Given the description of an element on the screen output the (x, y) to click on. 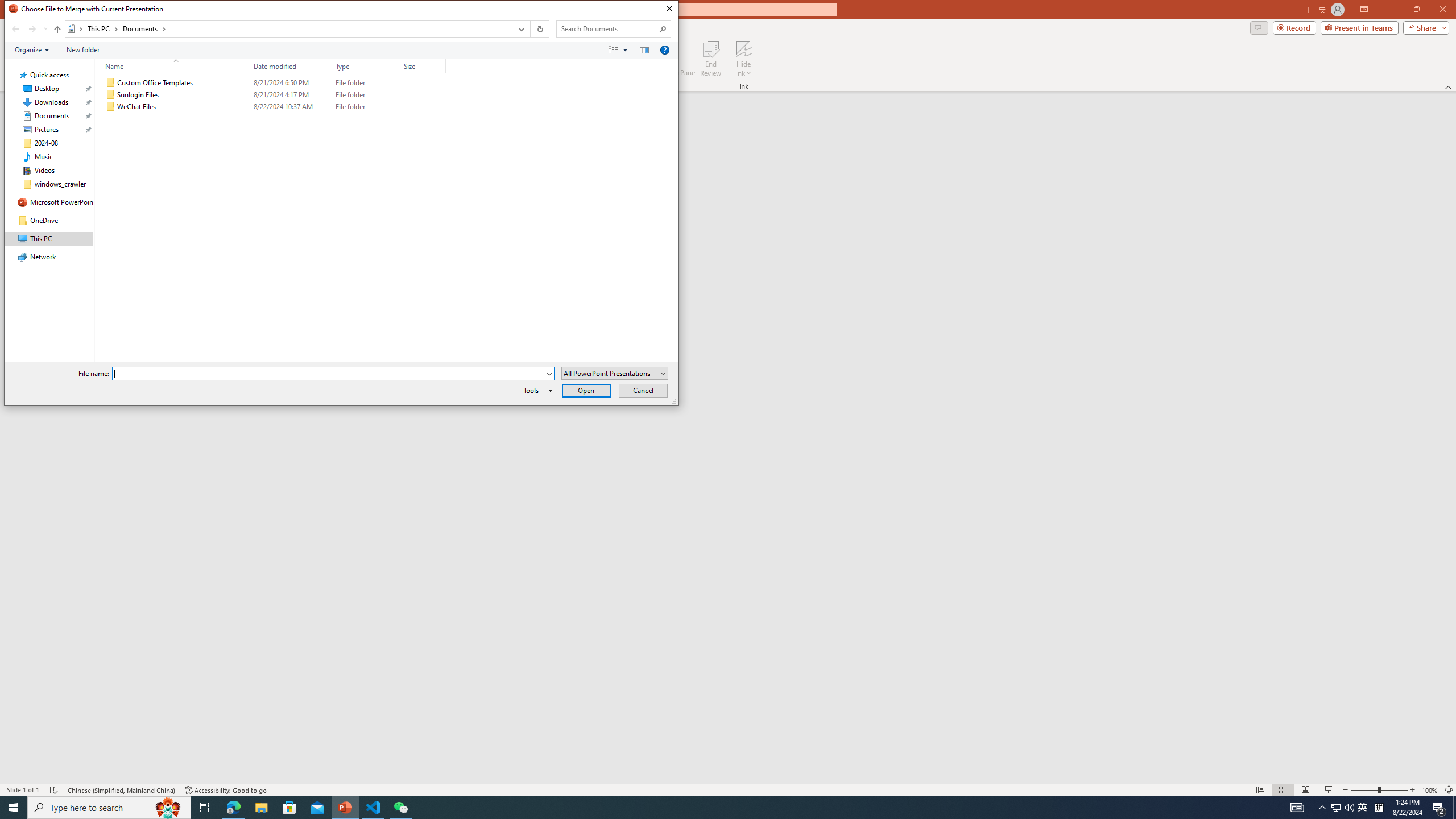
Size (422, 106)
View Slider (625, 49)
Restore Down (1416, 9)
Organize (31, 49)
Close (668, 9)
Views (620, 49)
Record (1294, 27)
Name (183, 106)
Microsoft Edge - 1 running window (233, 807)
Custom Office Templates (273, 82)
Ribbon Display Options (1364, 9)
Reading View (1305, 790)
Slide Sorter (1282, 790)
Comments (1259, 27)
File name: (333, 373)
